Given the description of an element on the screen output the (x, y) to click on. 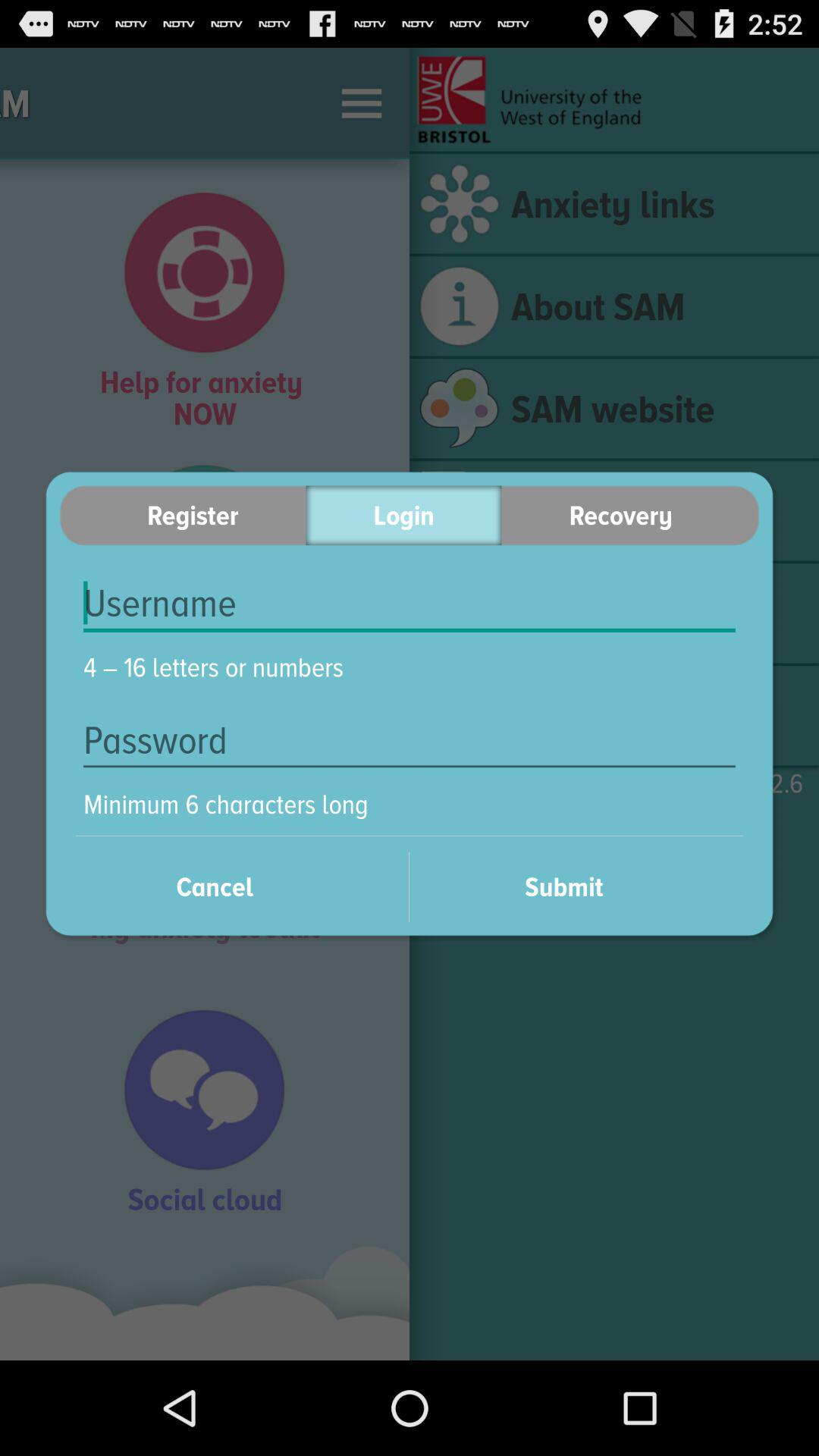
select recovery (630, 515)
